Given the description of an element on the screen output the (x, y) to click on. 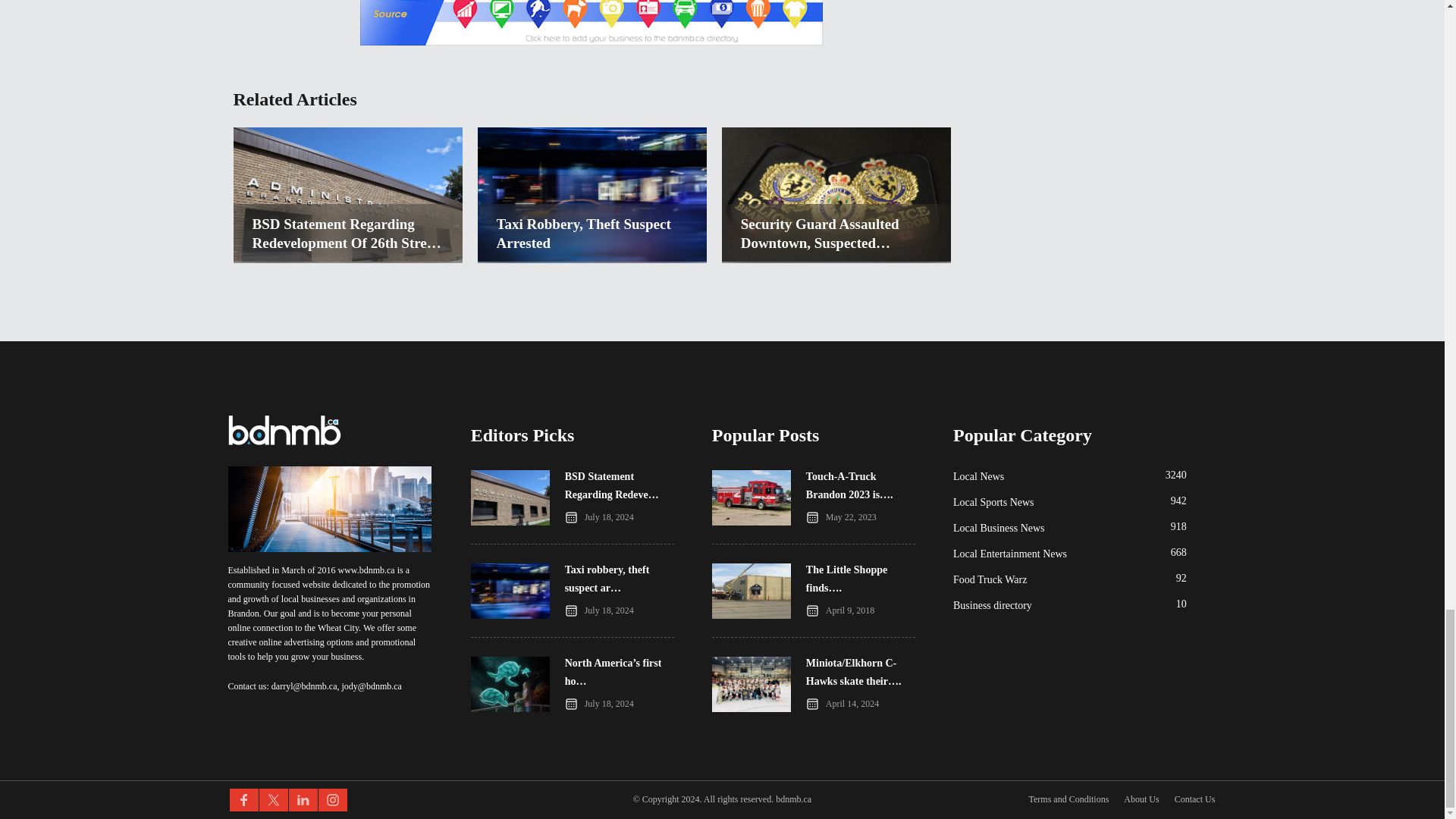
Taxi robbery, theft suspect arrested (591, 257)
Taxi robbery, theft suspect arrested (591, 233)
